Given the description of an element on the screen output the (x, y) to click on. 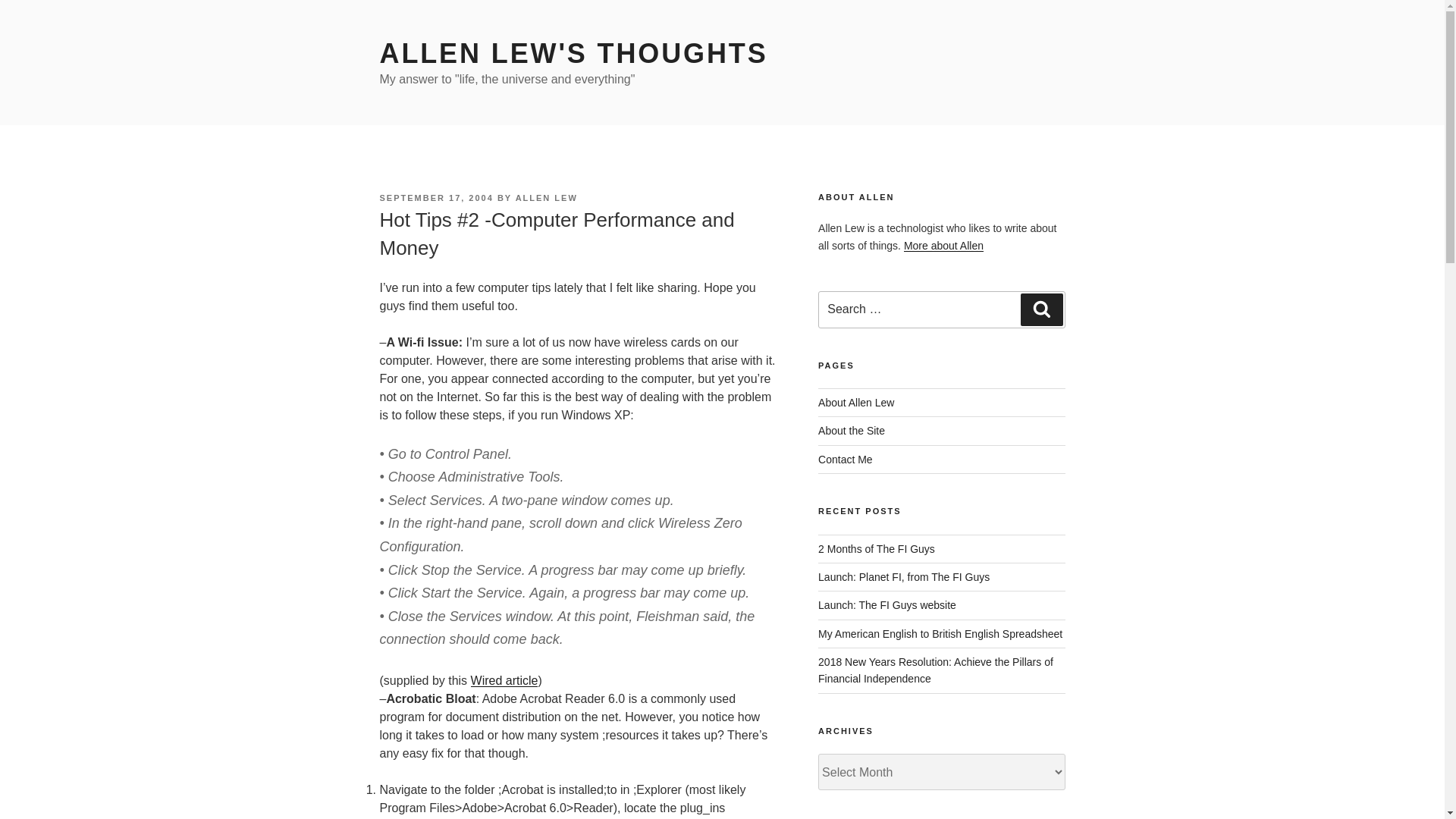
ALLEN LEW (546, 197)
Launch: The FI Guys website (887, 604)
Launch: Planet FI, from The FI Guys (904, 576)
Contact Me (845, 459)
Search (1041, 309)
SEPTEMBER 17, 2004 (435, 197)
More about Allen (944, 245)
Wired article (504, 680)
About the Site (851, 430)
2 Months of The FI Guys (876, 548)
ALLEN LEW'S THOUGHTS (572, 52)
About Allen Lew (855, 402)
My American English to British English Spreadsheet (940, 633)
